Given the description of an element on the screen output the (x, y) to click on. 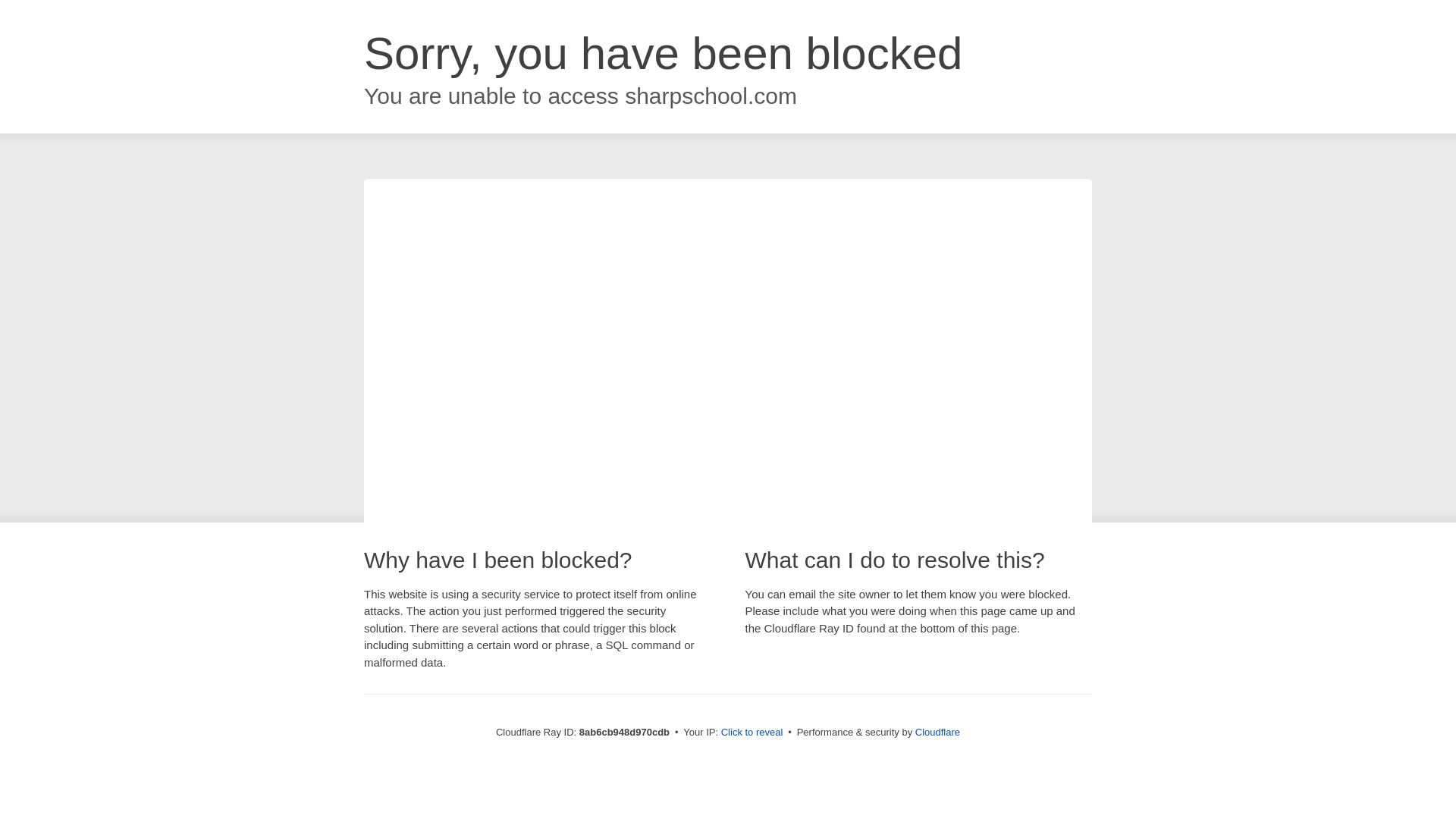
Cloudflare (937, 731)
Click to reveal (751, 732)
